Given the description of an element on the screen output the (x, y) to click on. 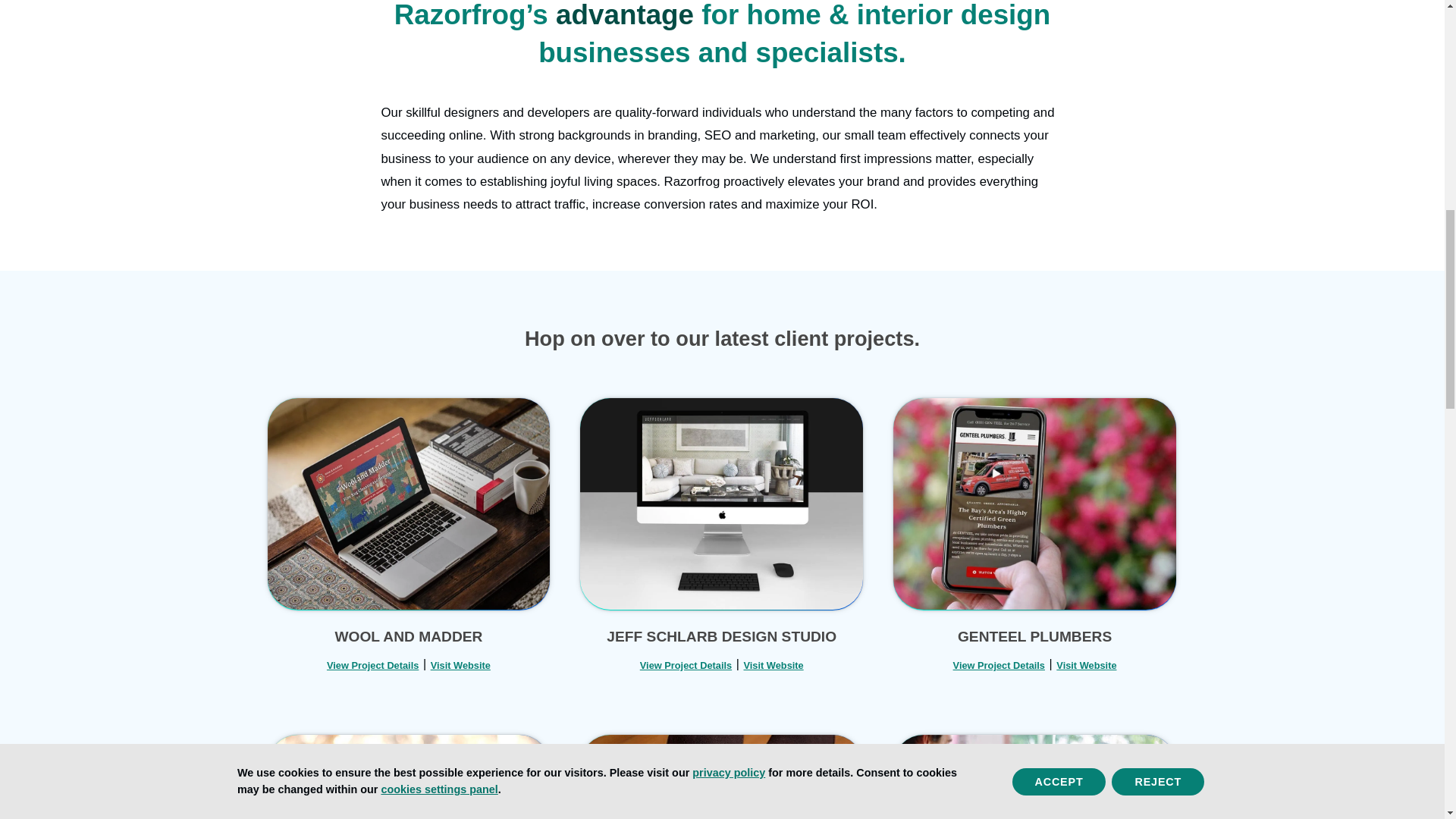
View Project Details (372, 665)
View Project Details (999, 665)
Visit Website (460, 665)
View Project Details (686, 665)
Visit Website (772, 665)
Visit Website (1086, 665)
